Given the description of an element on the screen output the (x, y) to click on. 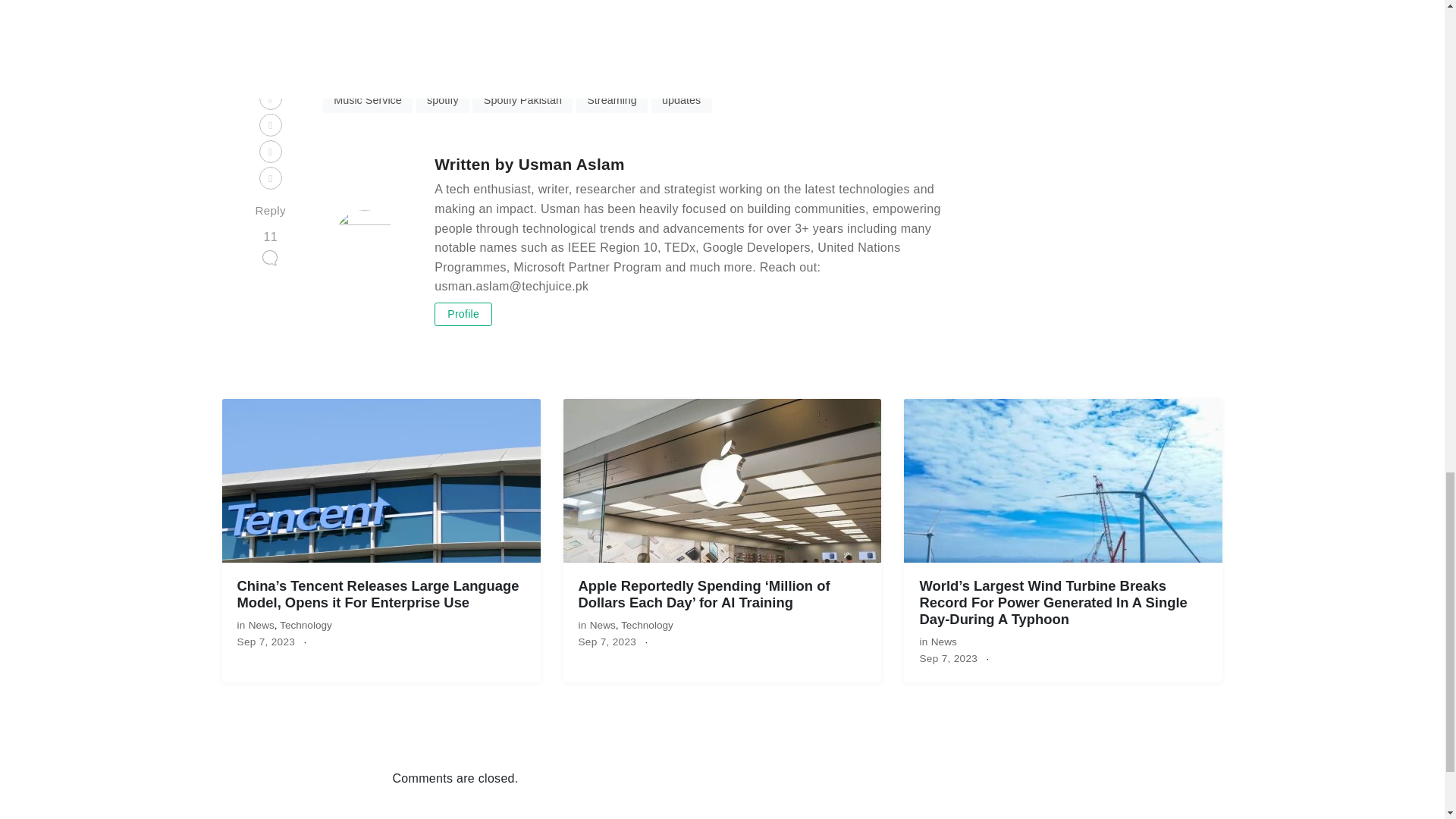
Share on WhatsApp (577, 58)
Share on Twitter (429, 58)
Share on Gmail (649, 58)
Share on LinkedIn (500, 58)
Share on Facebook (359, 58)
